Given the description of an element on the screen output the (x, y) to click on. 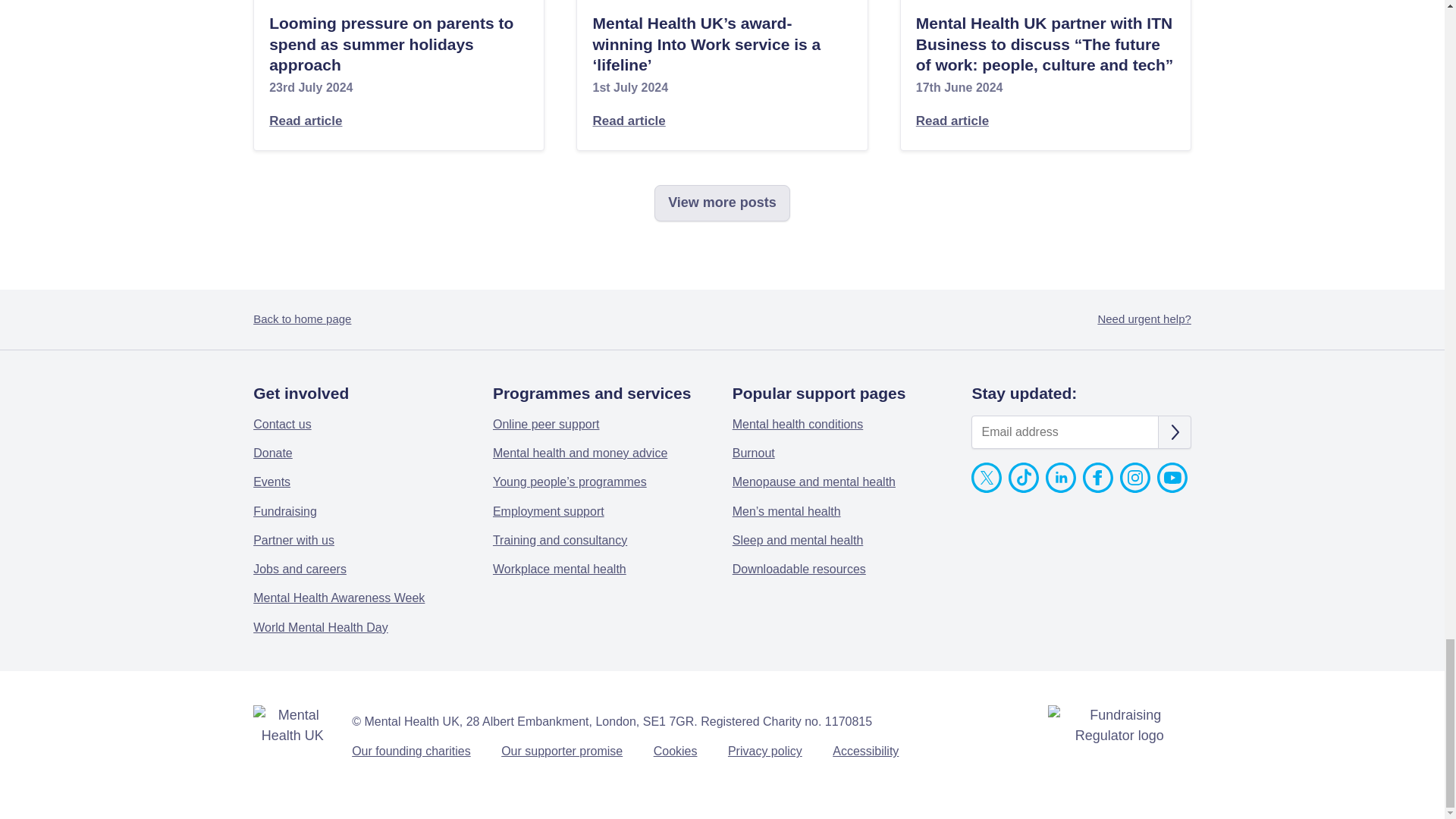
Mental Health UK on Facebook (1098, 488)
Mental Health UK on Instagram (1134, 488)
Mental Health UK on TikTok (1024, 488)
Mental Health UK on Linked In (1060, 488)
Mental Health UK on Youtube (1172, 488)
Mental Health UK on X.com (986, 488)
Go to home page (292, 725)
